Given the description of an element on the screen output the (x, y) to click on. 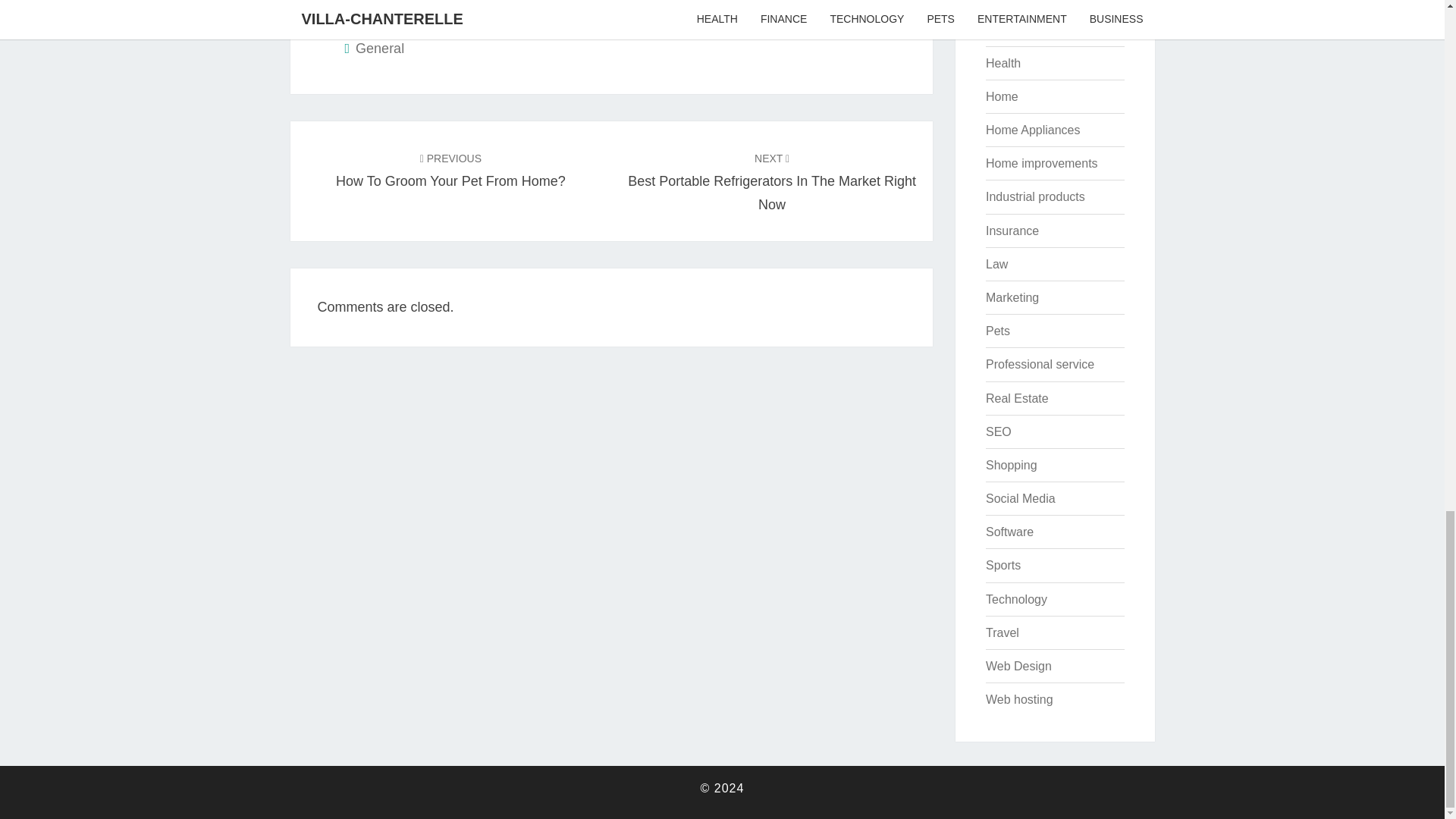
Health (771, 180)
Games (1002, 62)
General (1005, 1)
Law (379, 48)
Industrial products (996, 264)
Home (1034, 196)
Home improvements (1001, 96)
Home Appliances (1041, 163)
General (1032, 129)
